Given the description of an element on the screen output the (x, y) to click on. 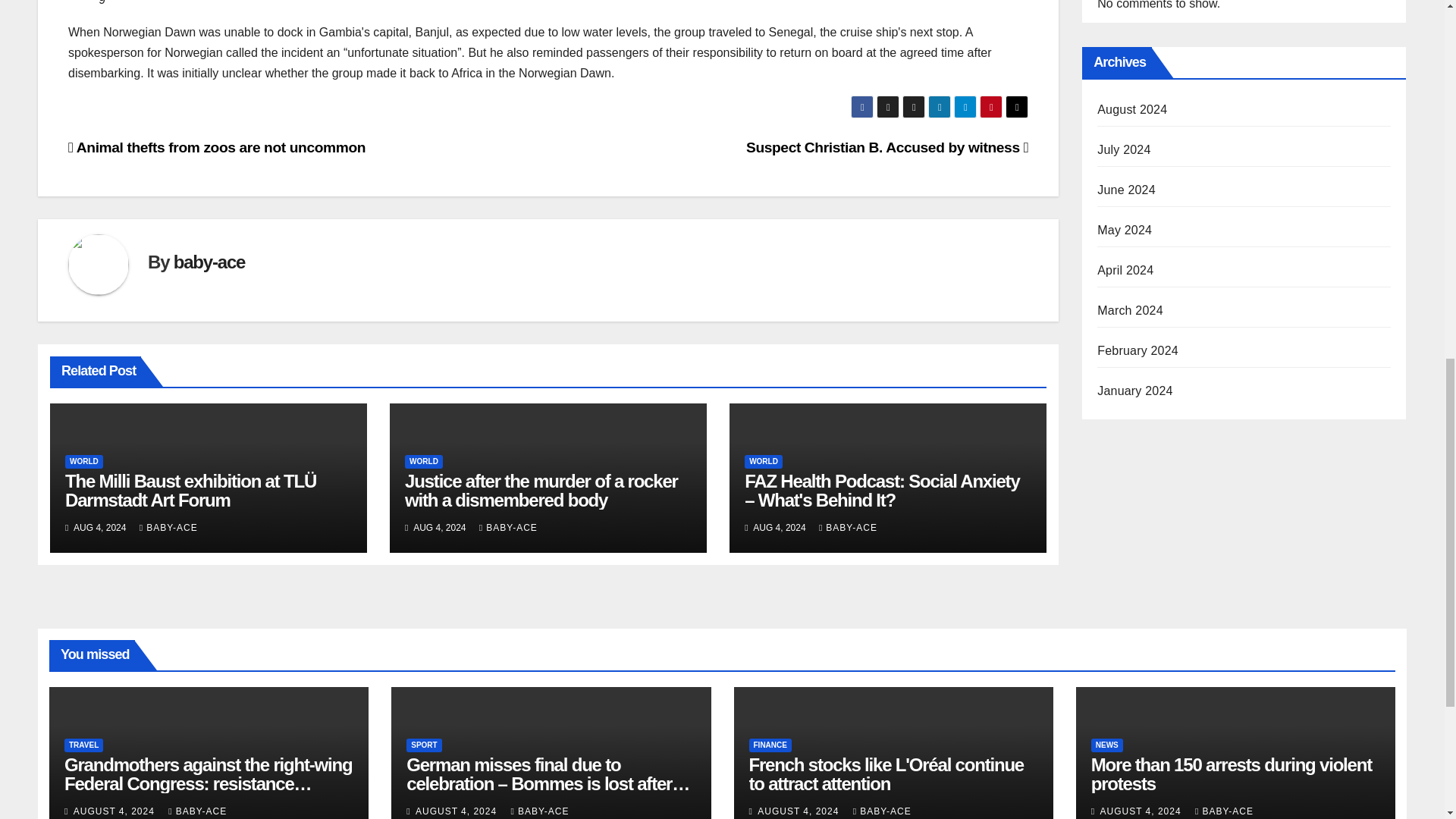
Justice after the murder of a rocker with a dismembered body (541, 490)
Animal thefts from zoos are not uncommon (216, 147)
baby-ace (208, 261)
Suspect Christian B. Accused by witness (886, 147)
WORLD (84, 461)
WORLD (423, 461)
WORLD (763, 461)
BABY-ACE (168, 527)
BABY-ACE (508, 527)
